Given the description of an element on the screen output the (x, y) to click on. 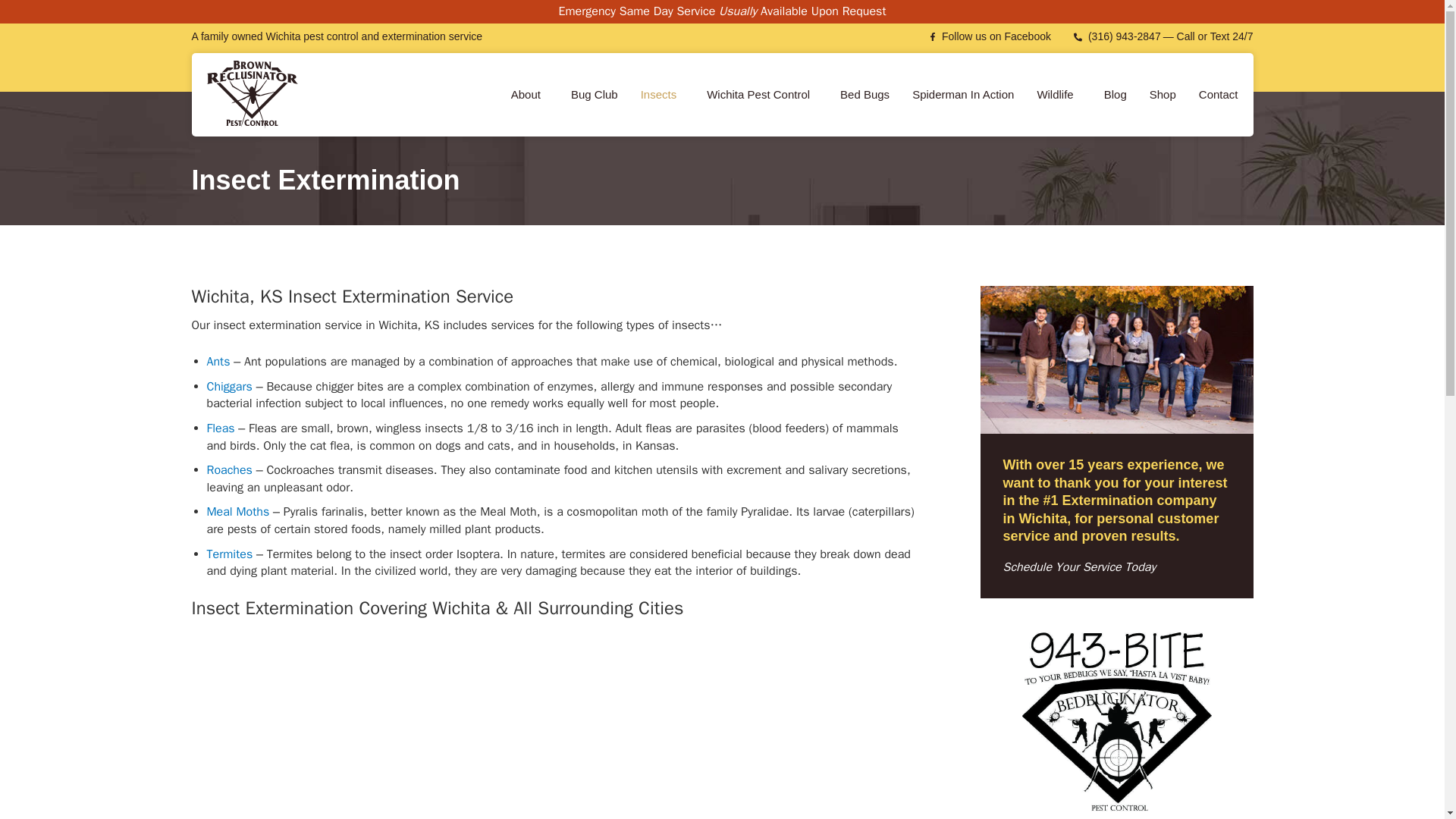
Bed Bugs (864, 94)
Wildlife (1058, 94)
Follow us on Facebook (990, 36)
Bug Club (593, 94)
Insects (662, 94)
Spiderman In Action (962, 94)
Contact (1218, 94)
About (529, 94)
Wichita Pest Control (761, 94)
